Given the description of an element on the screen output the (x, y) to click on. 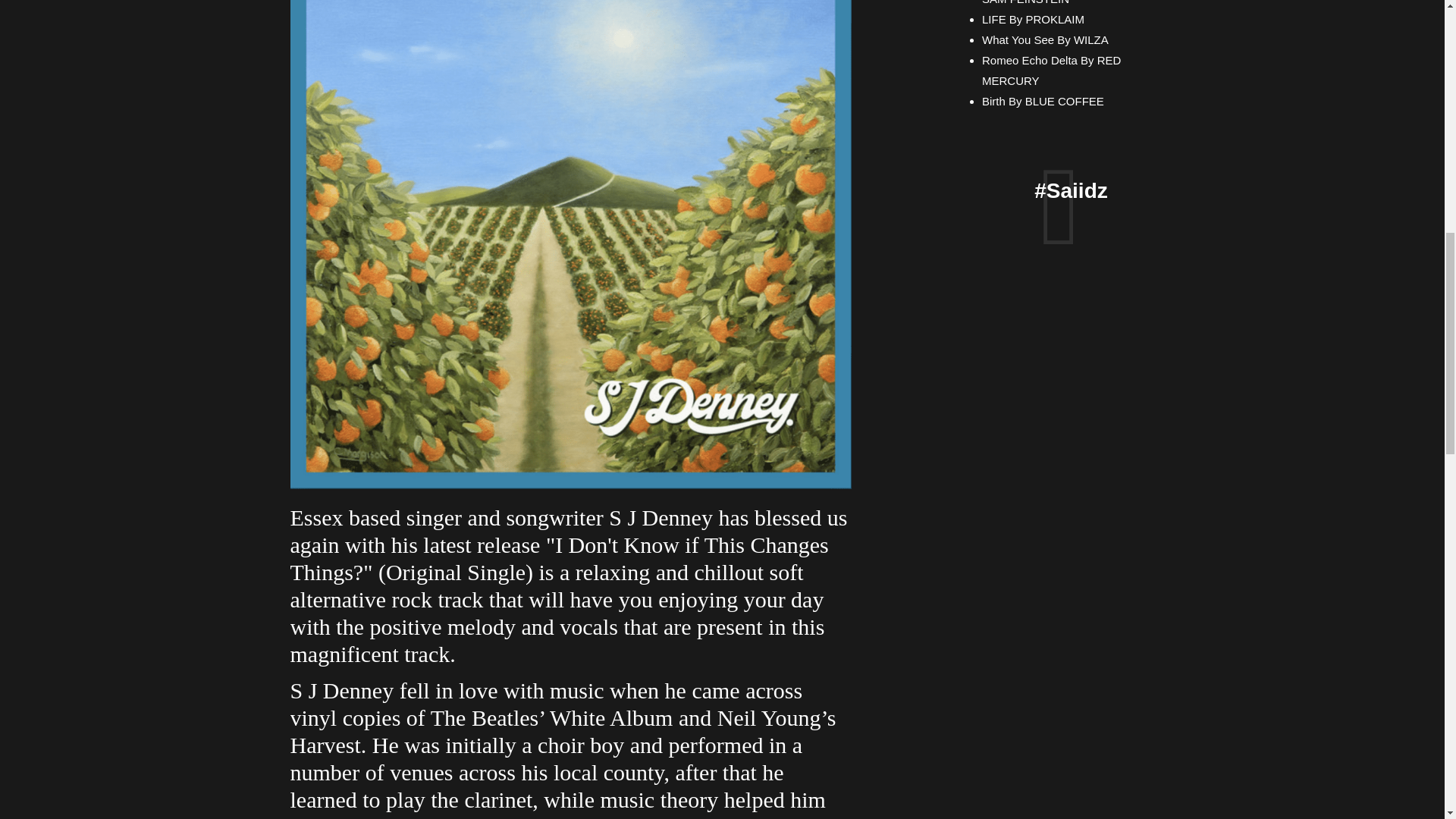
What You See By WILZA (1044, 39)
Birth By BLUE COFFEE (1042, 101)
LIFE By PROKLAIM (1032, 19)
Romeo Echo Delta By RED MERCURY (1051, 70)
The Shot Heard Round the Burbs By SAM FEINSTEIN (1074, 2)
